Given the description of an element on the screen output the (x, y) to click on. 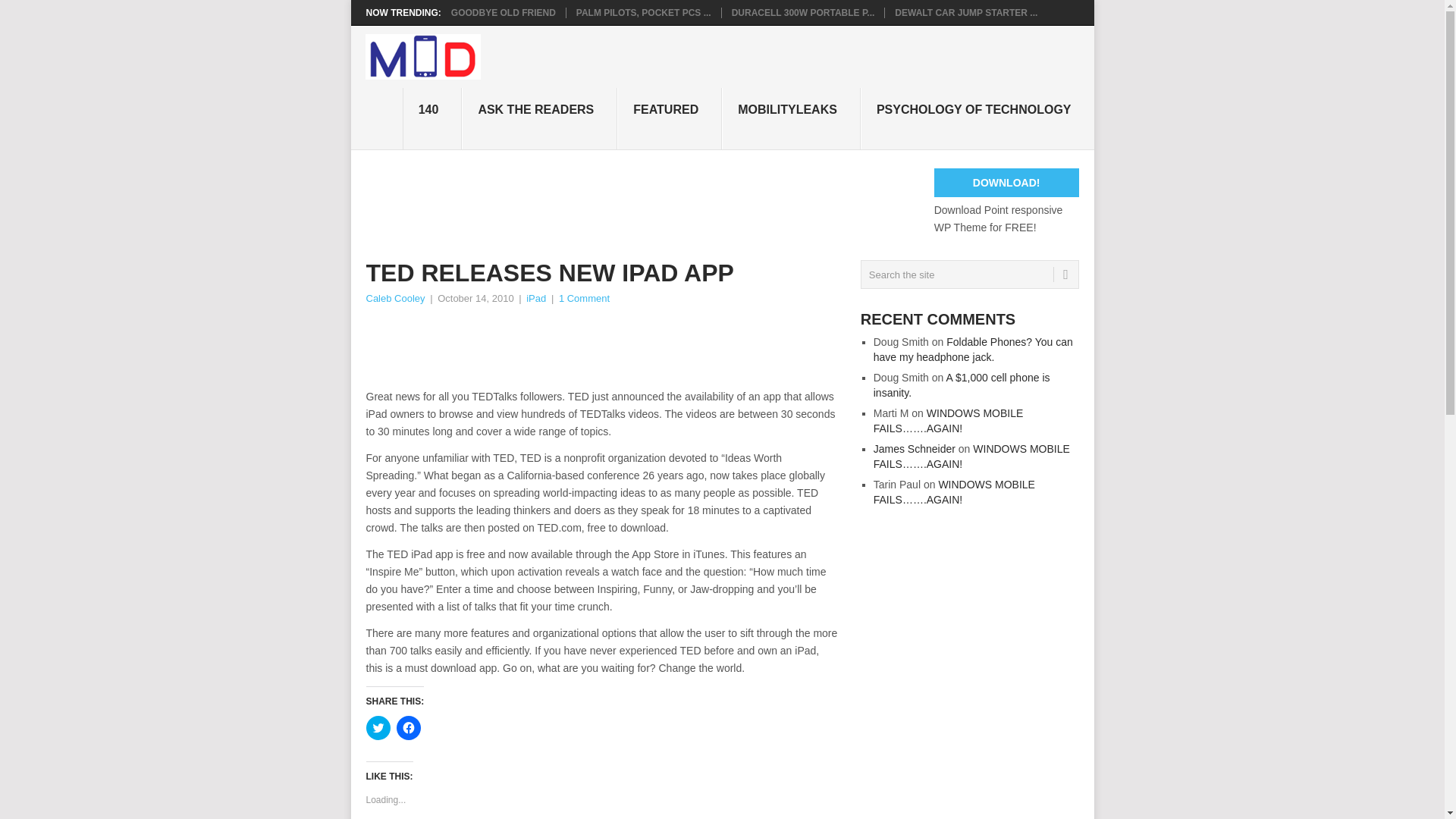
FEATURED (669, 118)
Caleb Cooley (395, 297)
Click to share on Facebook (408, 727)
ASK THE READERS (539, 118)
Click to share on Twitter (377, 727)
iPad (535, 297)
PSYCHOLOGY OF TECHNOLOGY (977, 118)
DOWNLOAD! (1006, 182)
GOODBYE OLD FRIEND (503, 12)
Goodbye Old Friend (503, 12)
Palm Pilots, Pocket PCs and Boogie Boards (643, 12)
DEWALT CAR JUMP STARTER ... (965, 12)
140 (433, 118)
PALM PILOTS, POCKET PCS ... (643, 12)
MOBILITYLEAKS (791, 118)
